Given the description of an element on the screen output the (x, y) to click on. 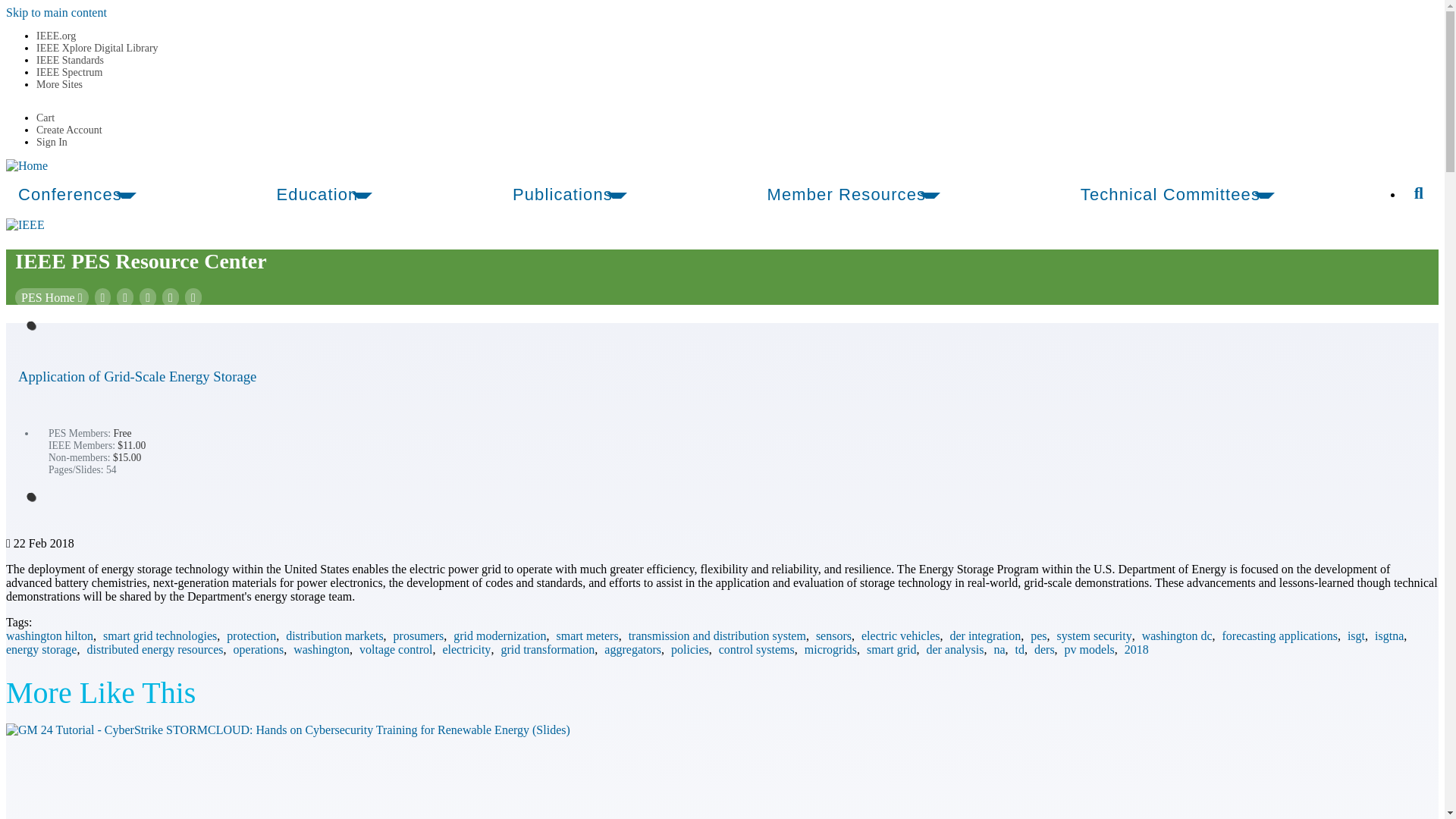
More Sites (59, 84)
Skip to main content (55, 11)
Create Account (68, 129)
Home (26, 164)
Login with your IEEE Account (51, 142)
Education (319, 194)
Conferences (71, 194)
IEEE Standards (69, 60)
IEEE Xplore Digital Library (97, 48)
IEEE.org (55, 35)
Sign In (51, 142)
IEEE Spectrum (68, 71)
Cart (45, 117)
